Given the description of an element on the screen output the (x, y) to click on. 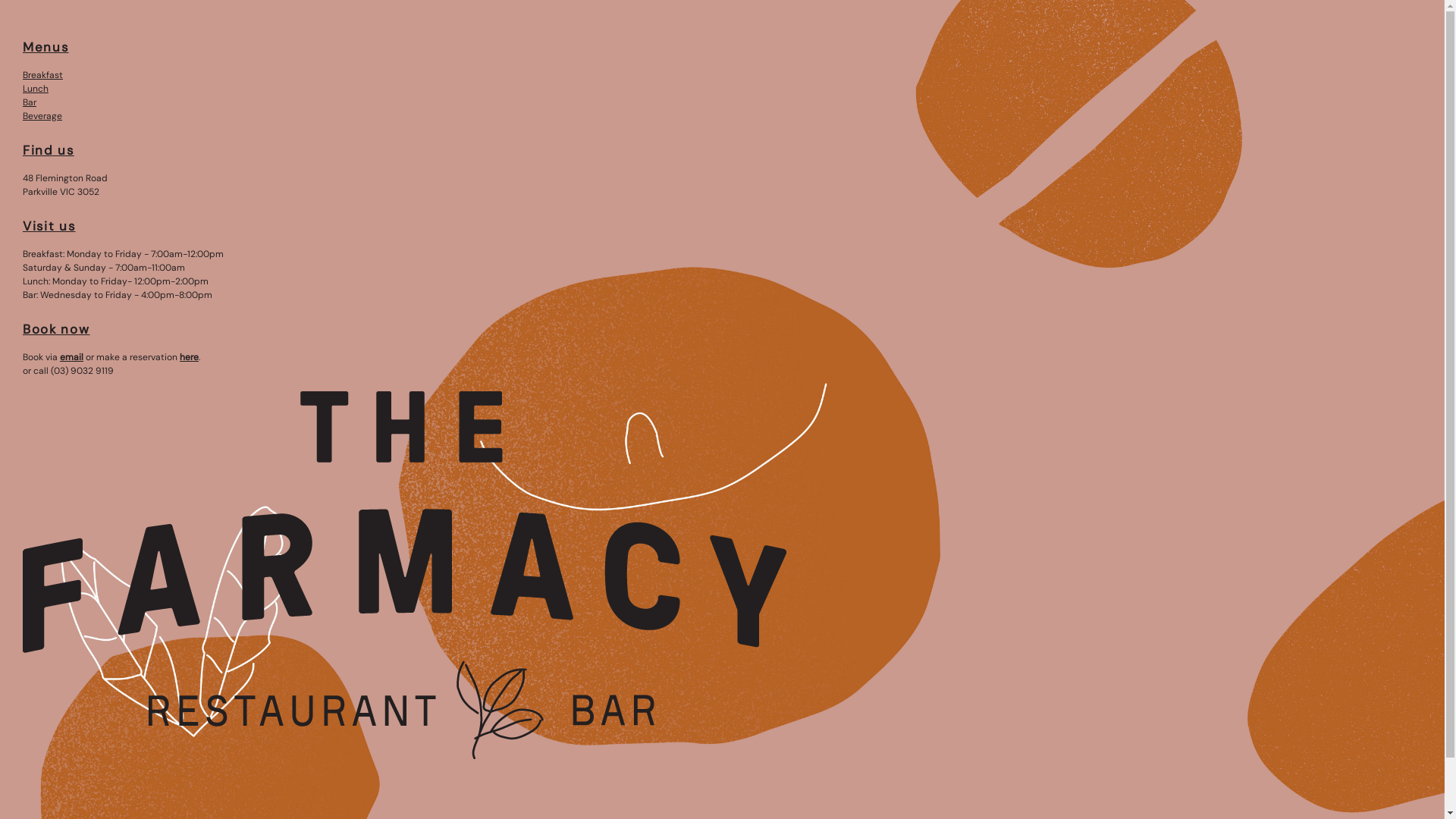
Beverage Element type: text (42, 115)
email Element type: text (71, 357)
Breakfast Element type: text (42, 75)
here Element type: text (188, 357)
Lunch Element type: text (35, 88)
Bar Element type: text (29, 102)
